Given the description of an element on the screen output the (x, y) to click on. 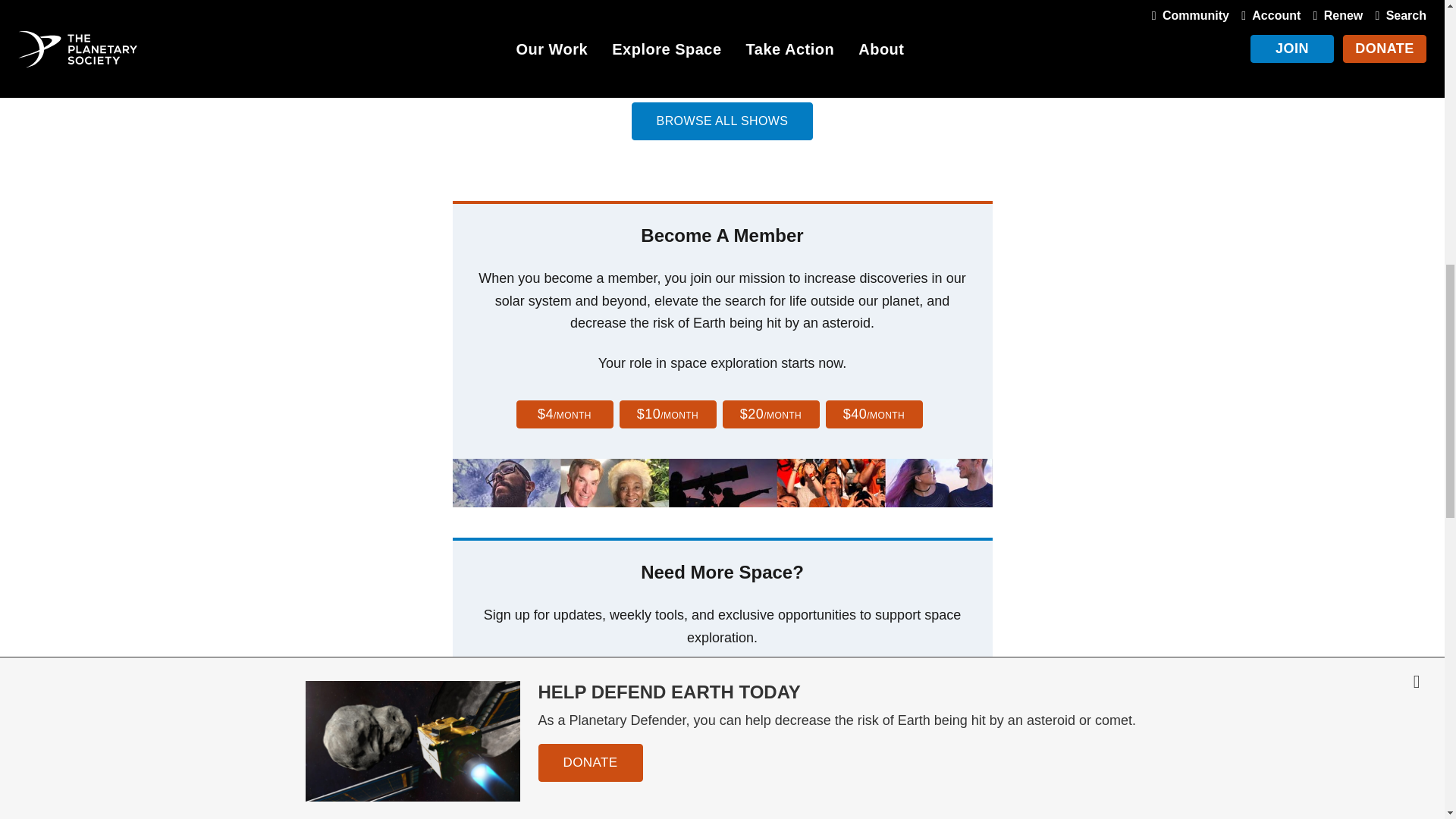
Subscribe (912, 703)
